Given the description of an element on the screen output the (x, y) to click on. 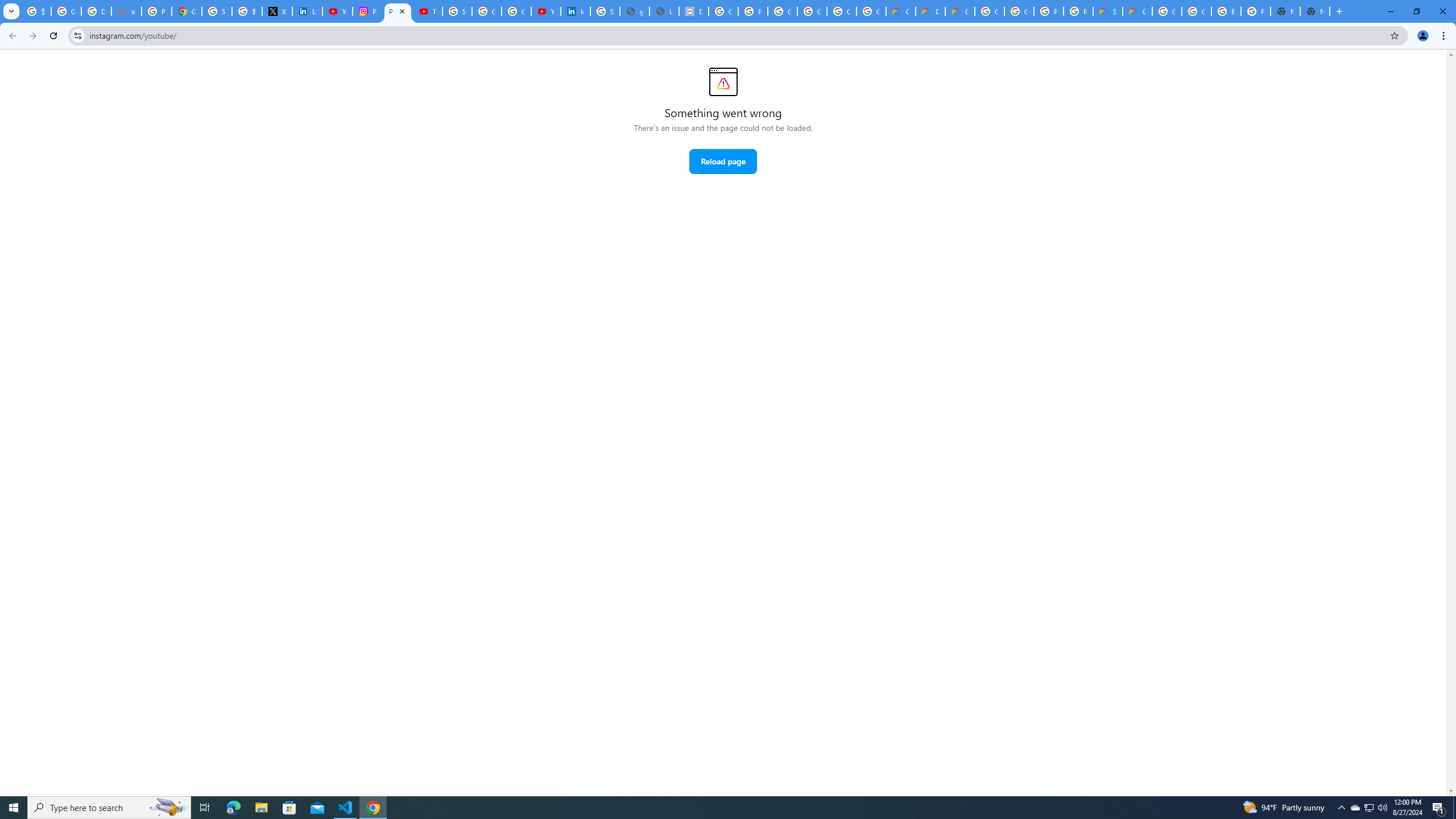
Google Cloud Platform (1018, 11)
Google Cloud Platform (989, 11)
User Details (664, 11)
Google Workspace - Specific Terms (841, 11)
google_privacy_policy_en.pdf (634, 11)
Reload page (722, 161)
X (277, 11)
Customer Care | Google Cloud (900, 11)
